Given the description of an element on the screen output the (x, y) to click on. 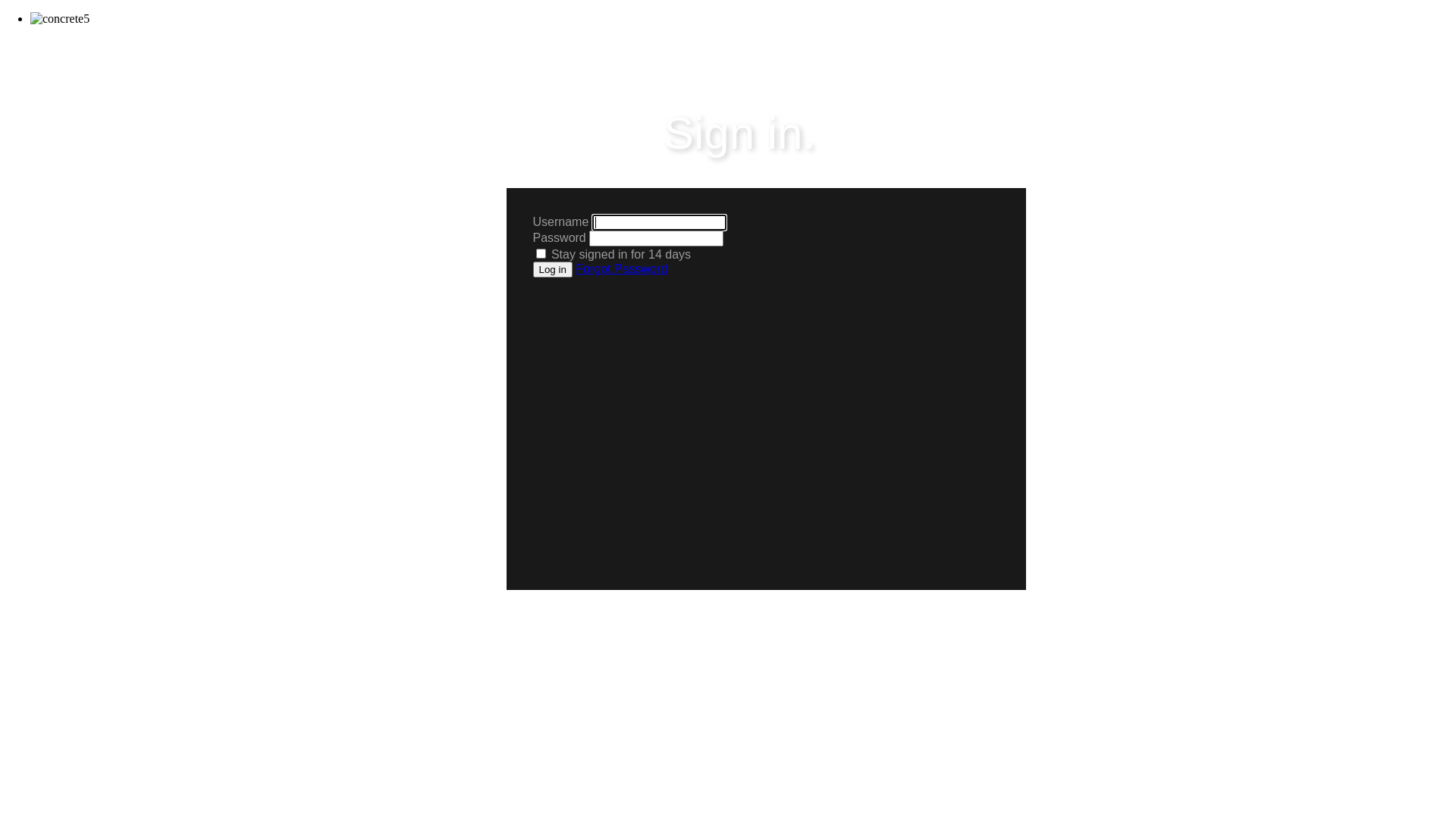
Forgot Password Element type: text (621, 268)
Log in Element type: text (551, 269)
concrete5 Element type: hover (59, 18)
